Given the description of an element on the screen output the (x, y) to click on. 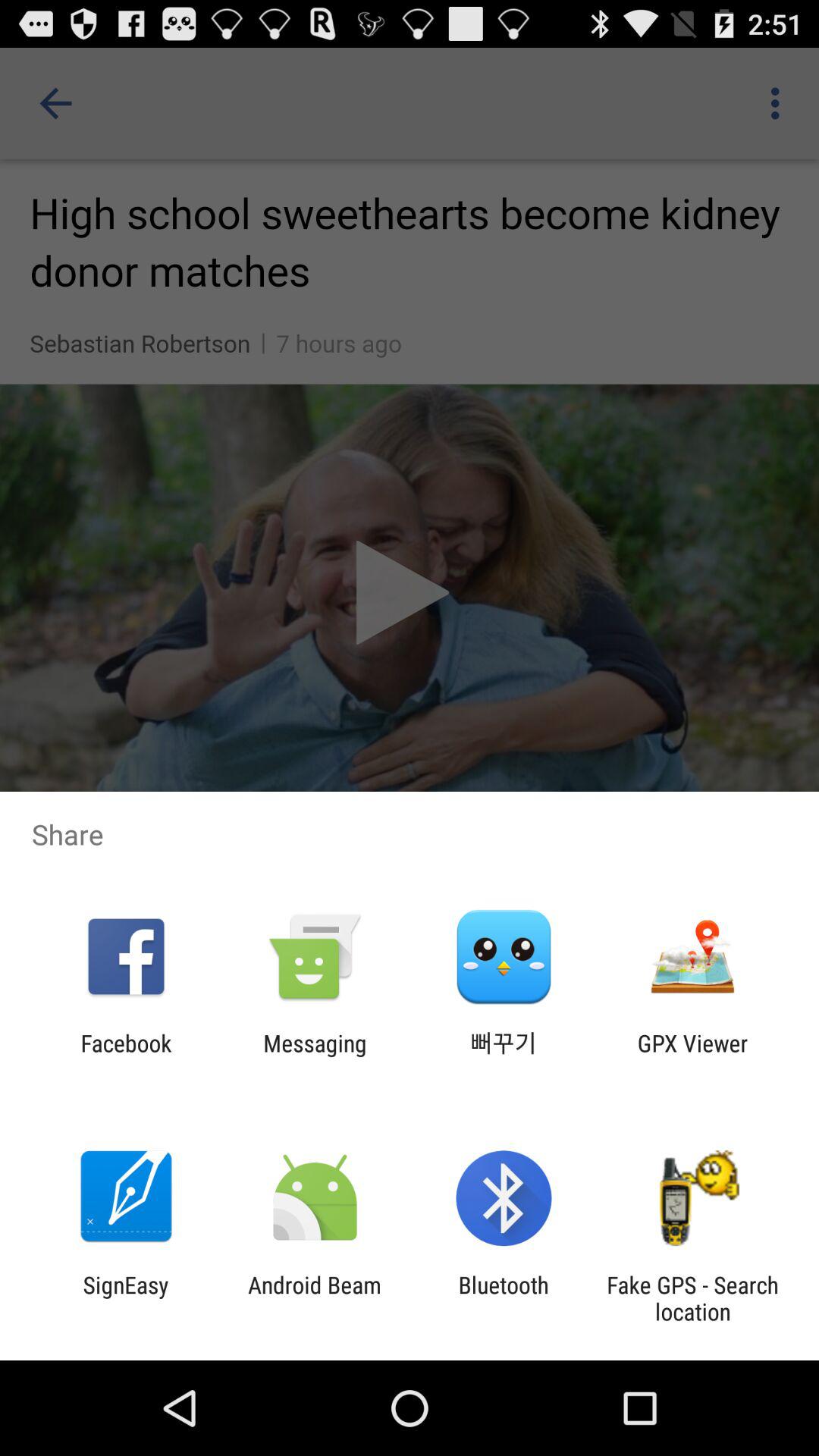
click the app next to the messaging icon (125, 1056)
